Given the description of an element on the screen output the (x, y) to click on. 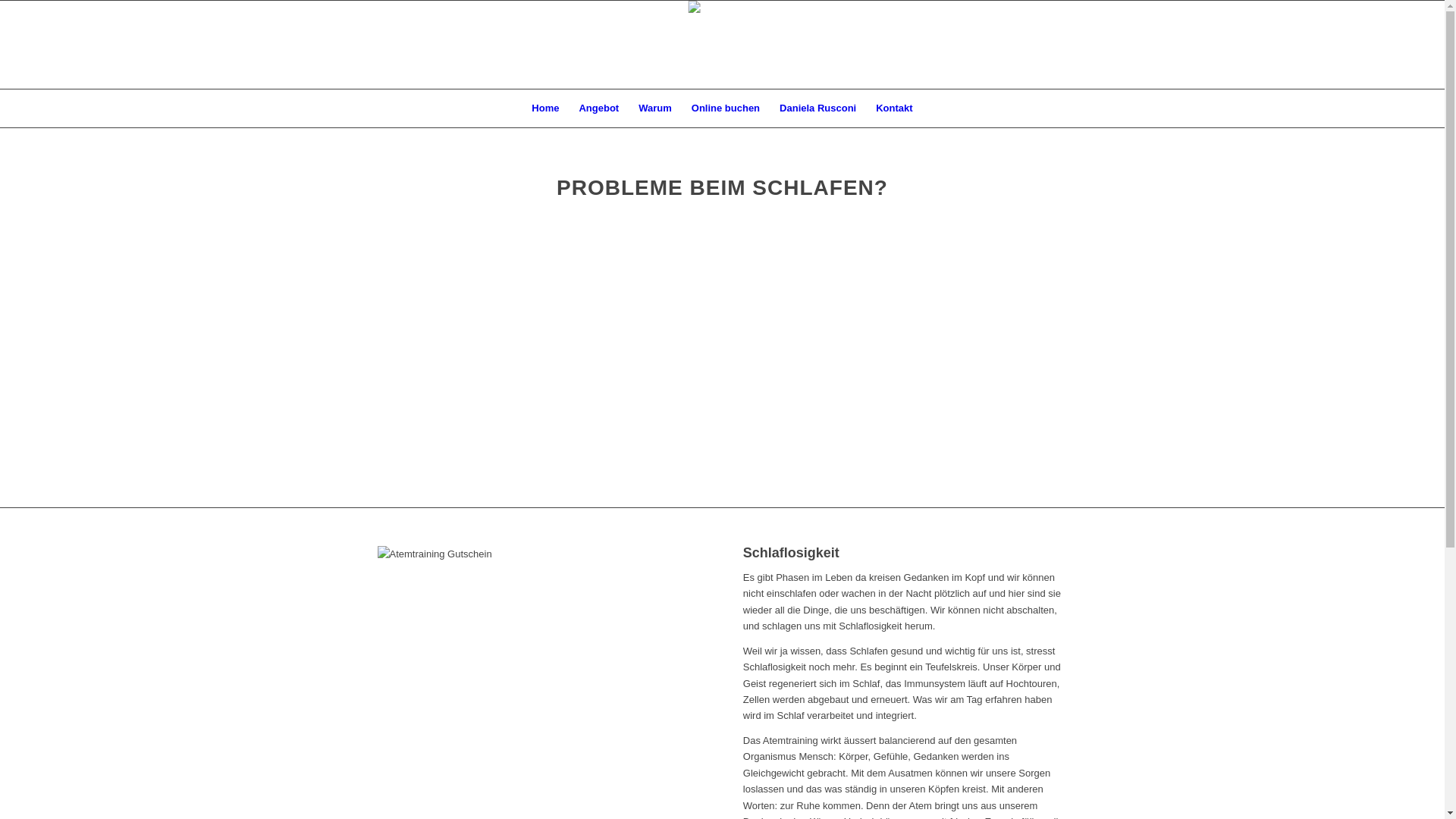
Online buchen Element type: text (725, 108)
Kontakt Element type: text (894, 108)
atemtraining_foerdert Element type: hover (539, 654)
Angebot Element type: text (598, 108)
Home Element type: text (544, 108)
Daniela Rusconi Element type: text (817, 108)
Warum Element type: text (654, 108)
atemtraining_ch_logo Element type: hover (722, 11)
